Given the description of an element on the screen output the (x, y) to click on. 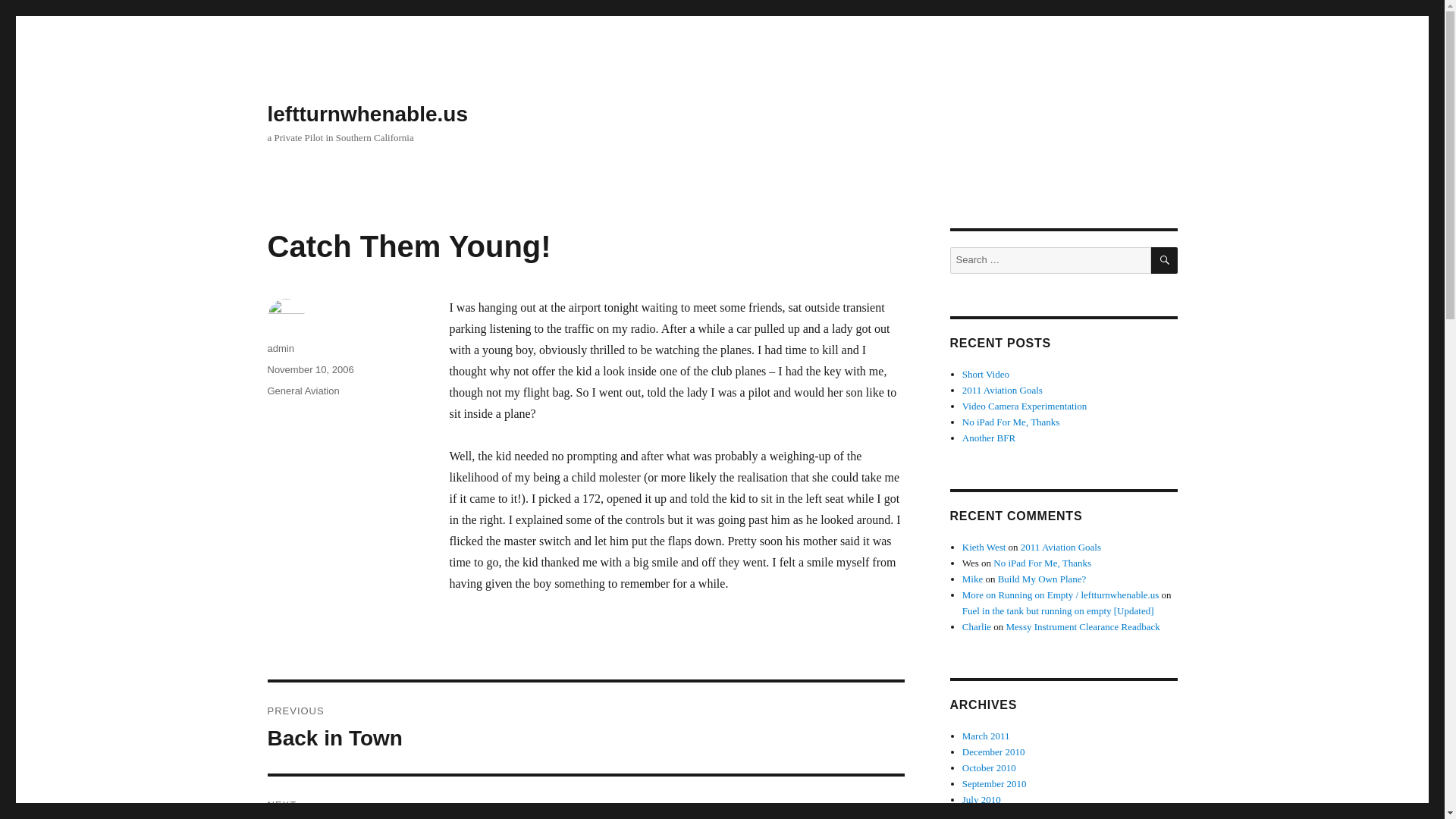
Build My Own Plane? (1041, 578)
March 2011 (986, 736)
December 2010 (993, 751)
July 2010 (981, 799)
November 10, 2006 (309, 369)
No iPad For Me, Thanks (1041, 562)
Another BFR (988, 437)
Charlie (976, 626)
SEARCH (1164, 260)
June 2010 (982, 814)
Mike (972, 578)
October 2010 (585, 727)
No iPad For Me, Thanks (989, 767)
Video Camera Experimentation (1010, 421)
